Given the description of an element on the screen output the (x, y) to click on. 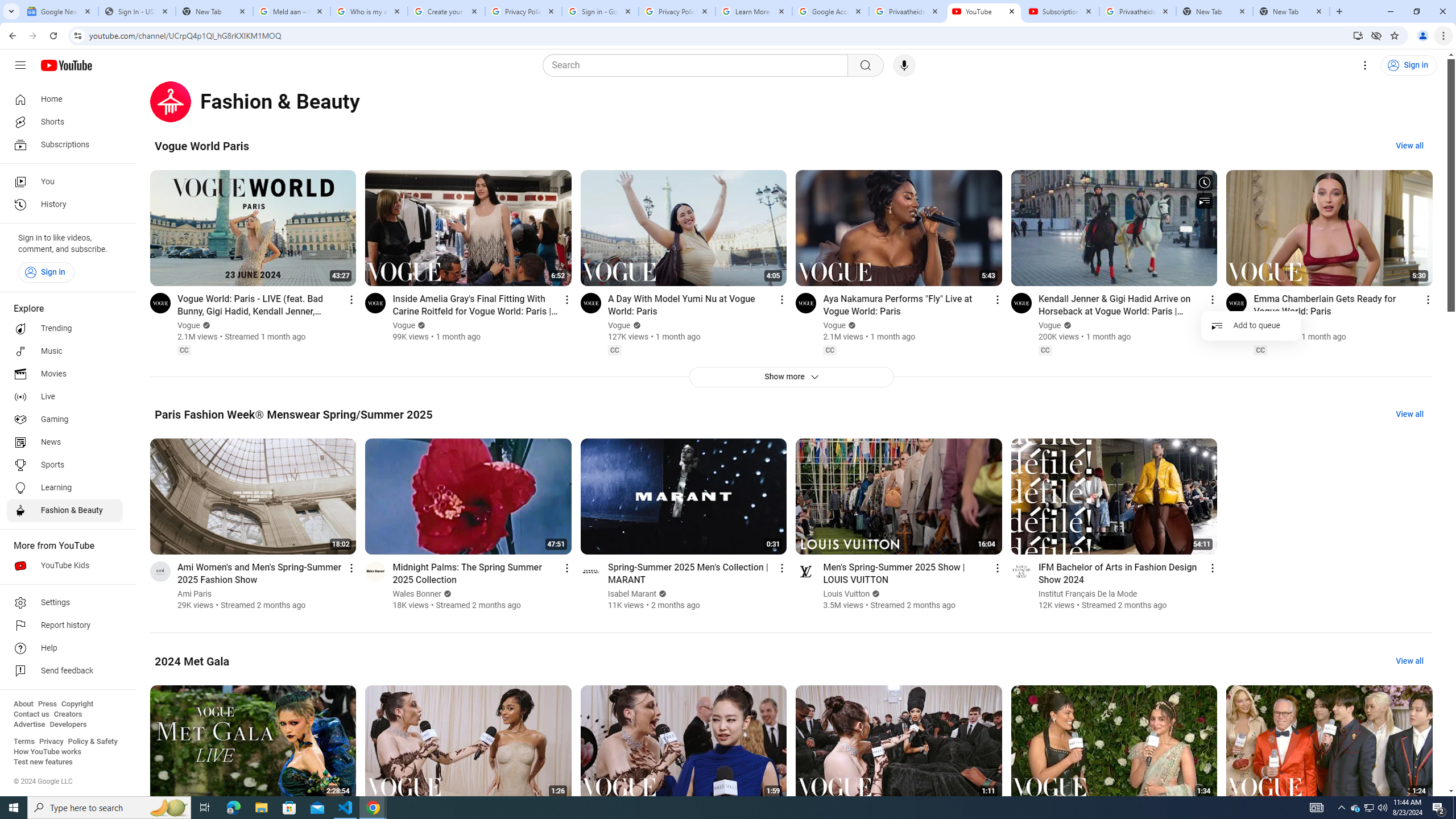
Who is my administrator? - Google Account Help (368, 11)
Add to queue (1250, 325)
Copyright (77, 703)
Contact us (31, 714)
Learning (64, 487)
History (64, 204)
New Tab (1291, 11)
Install YouTube (1358, 35)
Search with your voice (903, 65)
Closed captions (1260, 349)
Policy & Safety (91, 741)
